Given the description of an element on the screen output the (x, y) to click on. 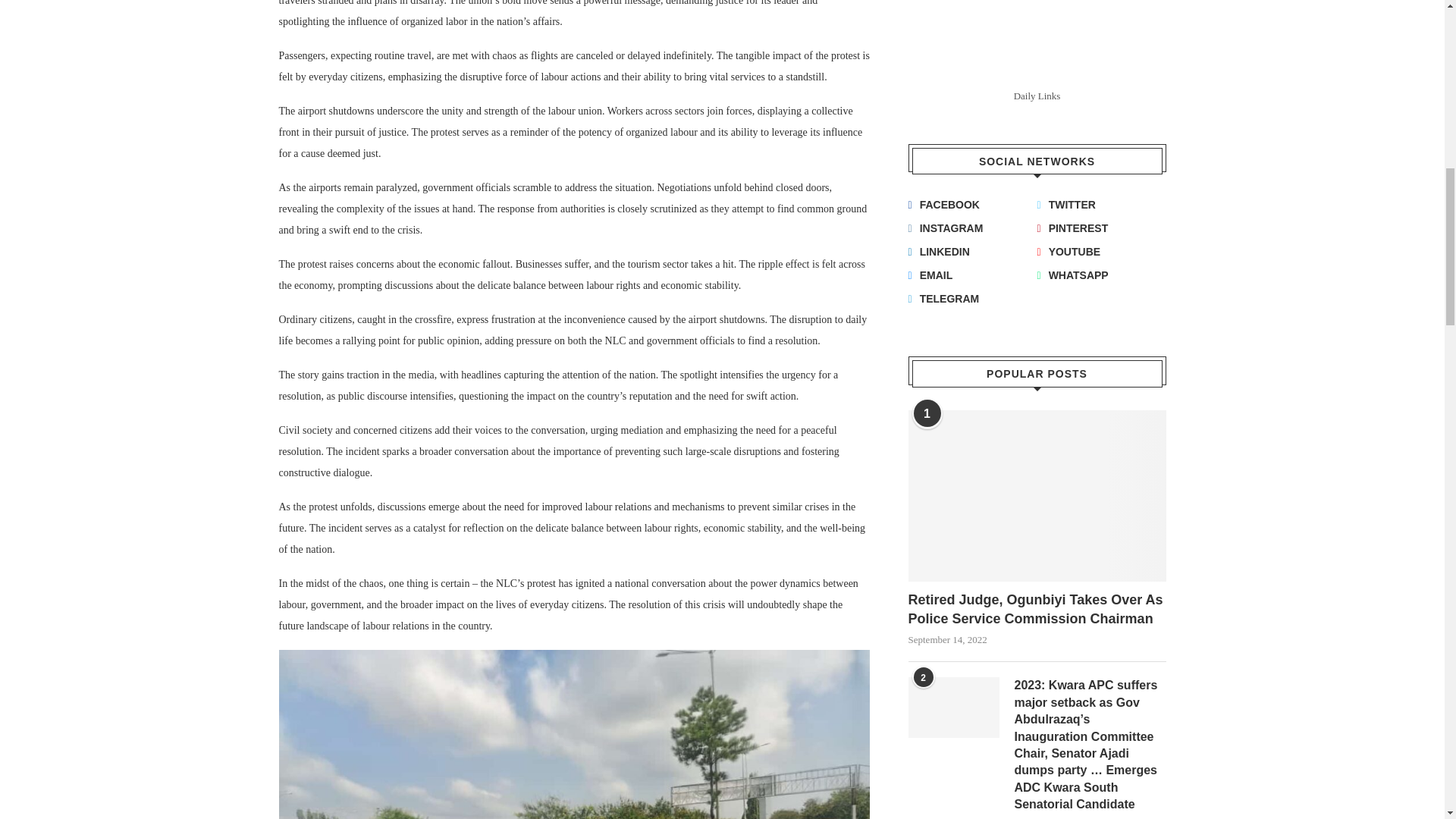
Daily Links Digital Media (1037, 42)
